Given the description of an element on the screen output the (x, y) to click on. 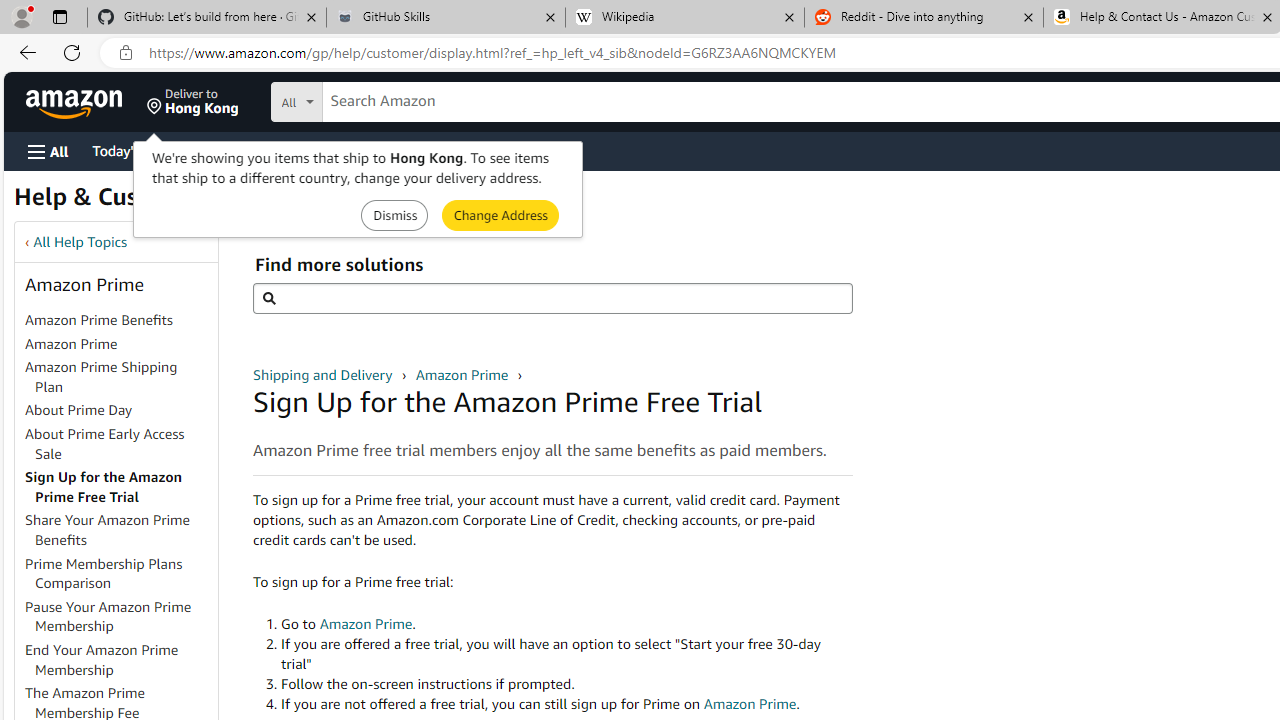
Go to Amazon Prime. (566, 624)
Registry (360, 150)
GitHub Skills (445, 17)
All Help Topics (80, 242)
Amazon Prime (120, 344)
Amazon (76, 101)
Follow the on-screen instructions if prompted. (566, 683)
Shipping and Delivery  (324, 374)
About Prime Early Access Sale (120, 444)
About Prime Early Access Sale (105, 443)
Amazon Prime Shipping Plan (120, 377)
